Given the description of an element on the screen output the (x, y) to click on. 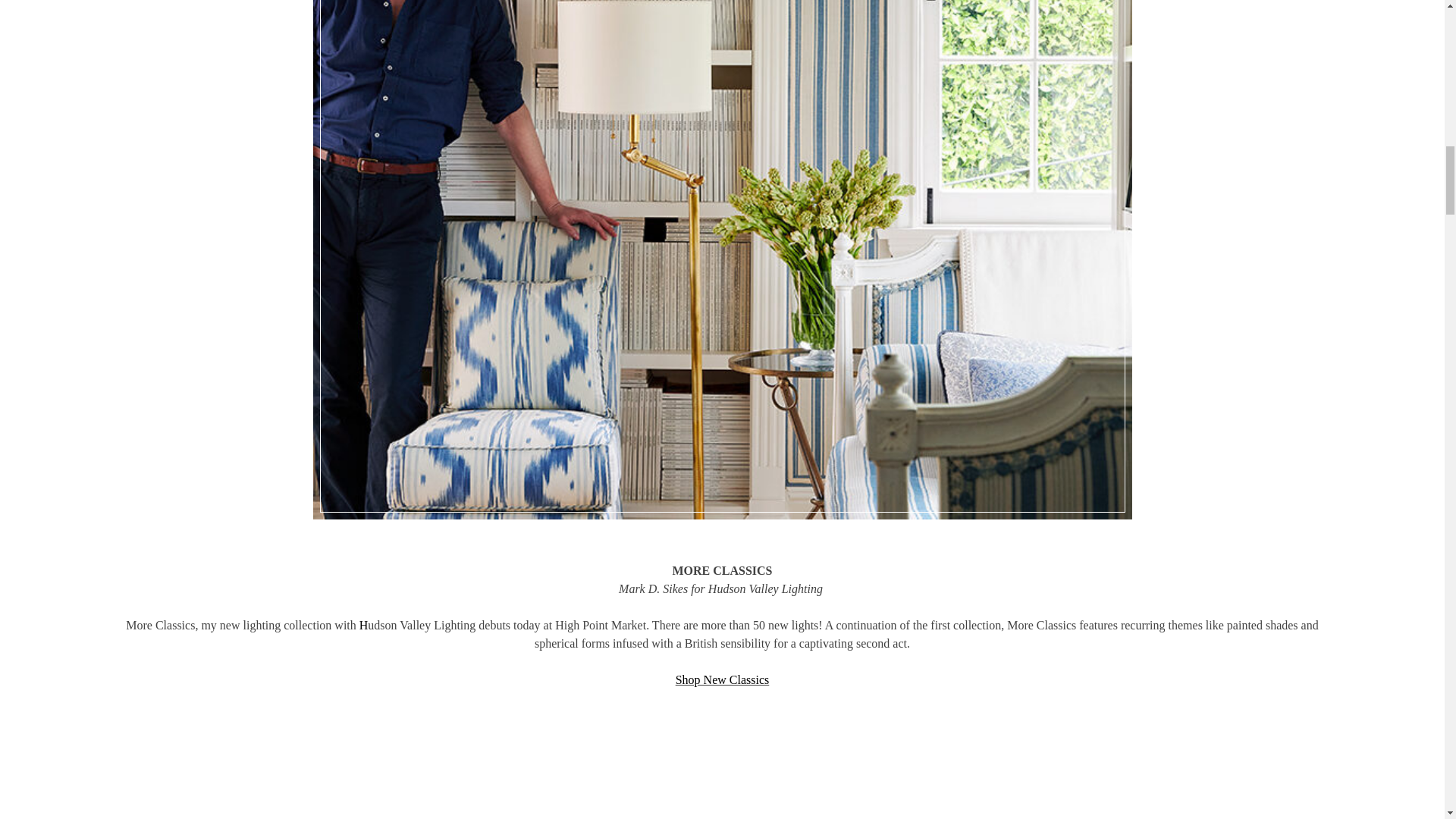
H (363, 625)
Shop New Classics (722, 679)
